Given the description of an element on the screen output the (x, y) to click on. 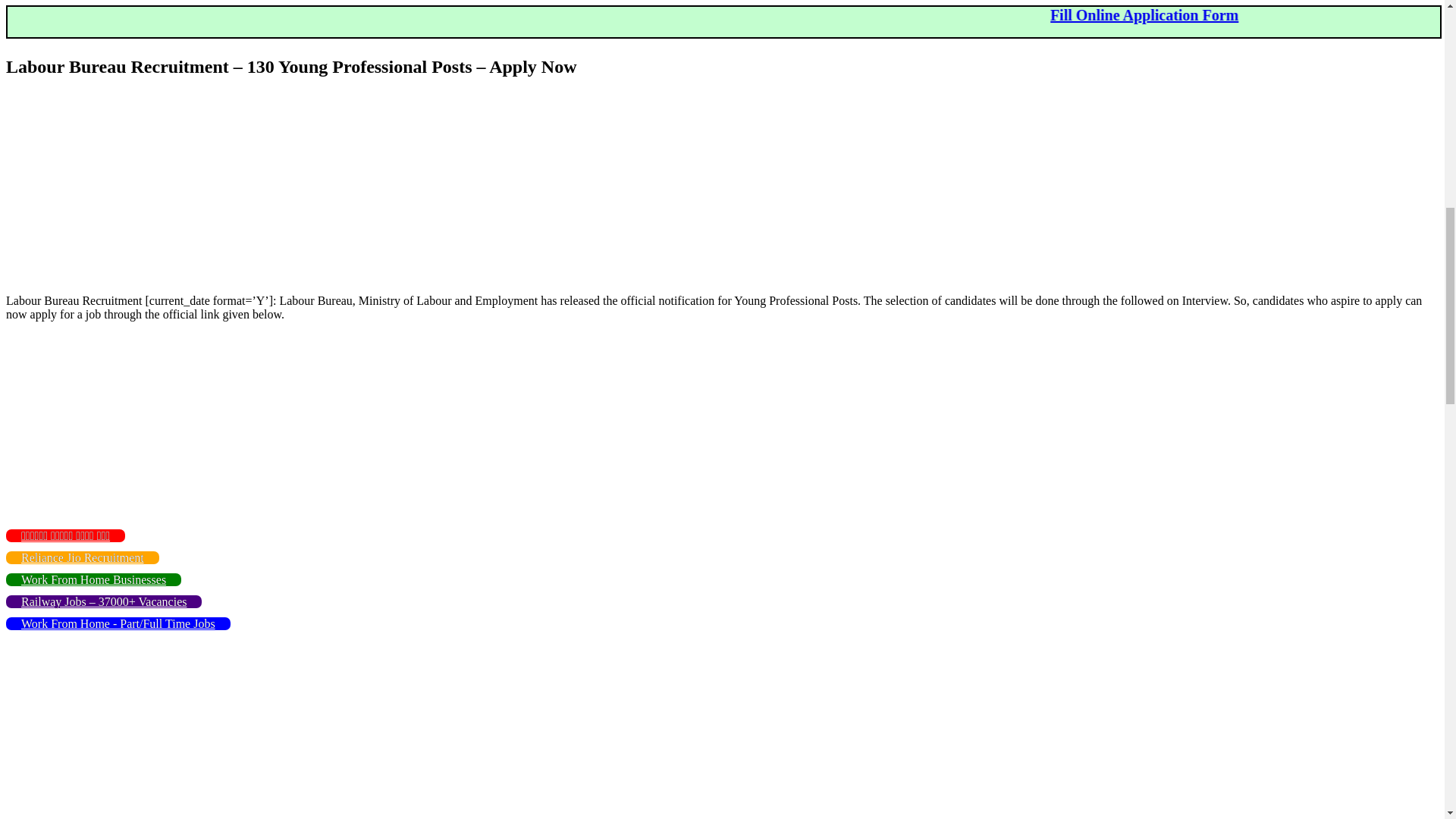
Work From Home Businesses (92, 579)
Fill Online Application Form (1332, 14)
Reliance Jio Recruitment (81, 557)
